Given the description of an element on the screen output the (x, y) to click on. 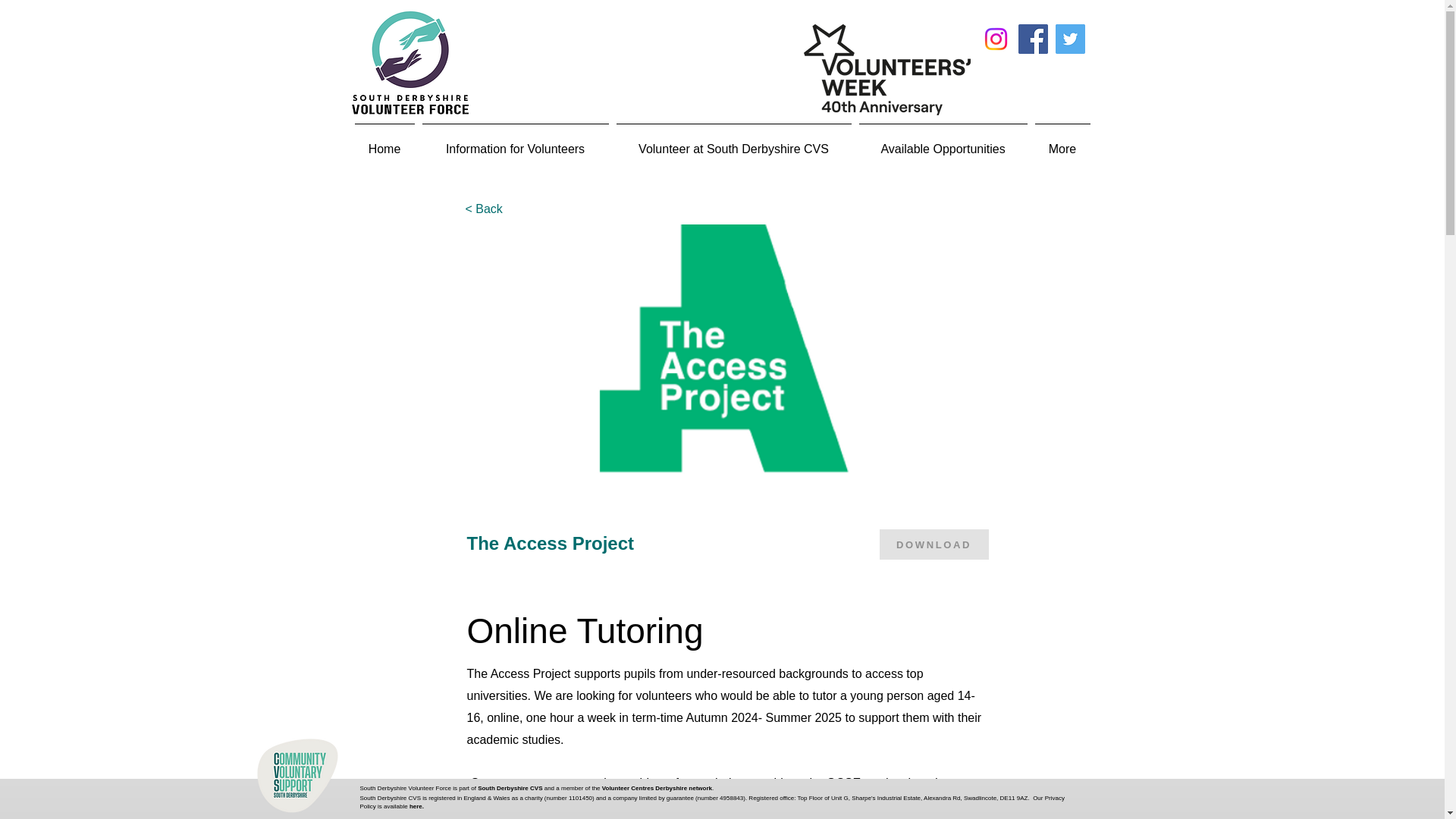
Home (383, 142)
Information for Volunteers (515, 142)
DOWNLOAD (933, 544)
here. (416, 805)
South Derbyshire CVS (509, 787)
Volunteer at South Derbyshire CVS (734, 142)
Available Opportunities (943, 142)
